Given the description of an element on the screen output the (x, y) to click on. 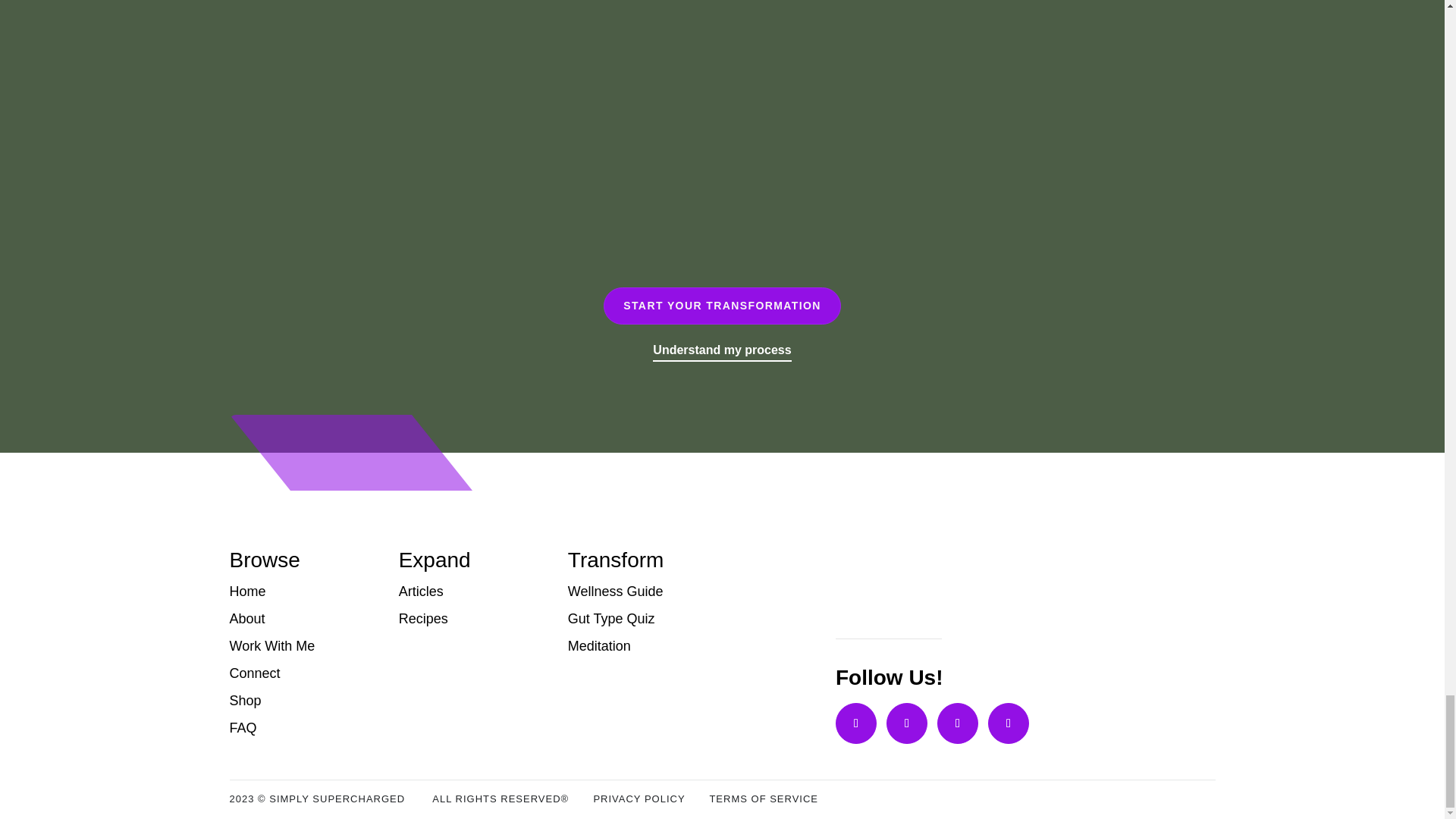
Follow on Facebook (1008, 722)
Understand my process (721, 350)
Connect (298, 673)
START YOUR TRANSFORMATION (722, 306)
Black butterfly (882, 590)
FAQ (298, 728)
Work With Me (298, 646)
Follow on Pinterest (906, 722)
Follow on Instagram (855, 722)
About (298, 618)
Recipes (468, 618)
Work with Ruby (721, 128)
Follow on Youtube (957, 722)
Home (298, 591)
TERMS OF SERVICE (763, 798)
